Given the description of an element on the screen output the (x, y) to click on. 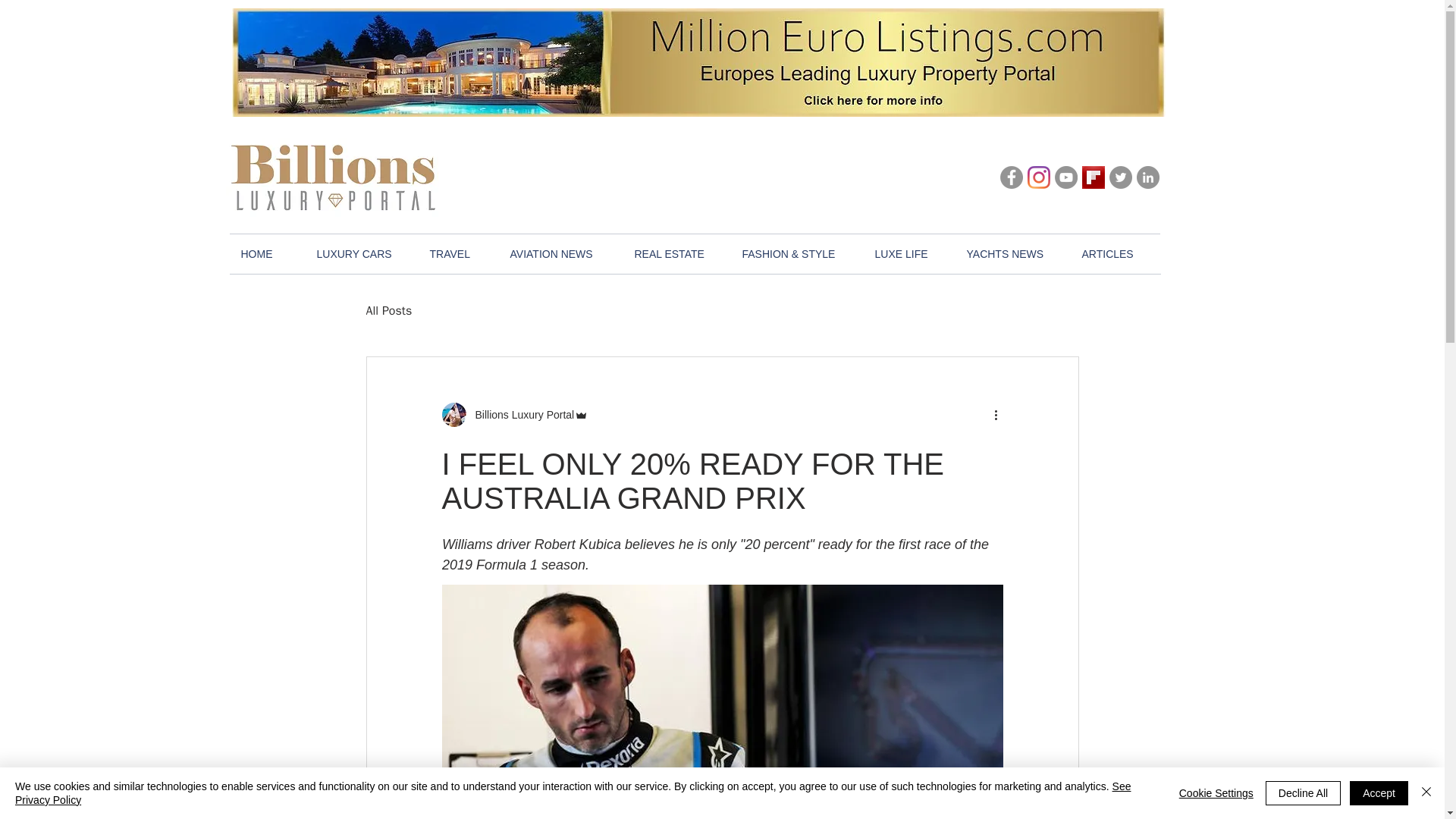
REAL ESTATE (676, 253)
TRAVEL (459, 253)
Celebrity Homes (718, 311)
Yachts (564, 311)
HOME (266, 253)
Travel (627, 311)
Billions Luxury Portal  (519, 414)
LUXURY CARS (360, 253)
All Posts (388, 311)
LUXE LIFE (909, 253)
